Given the description of an element on the screen output the (x, y) to click on. 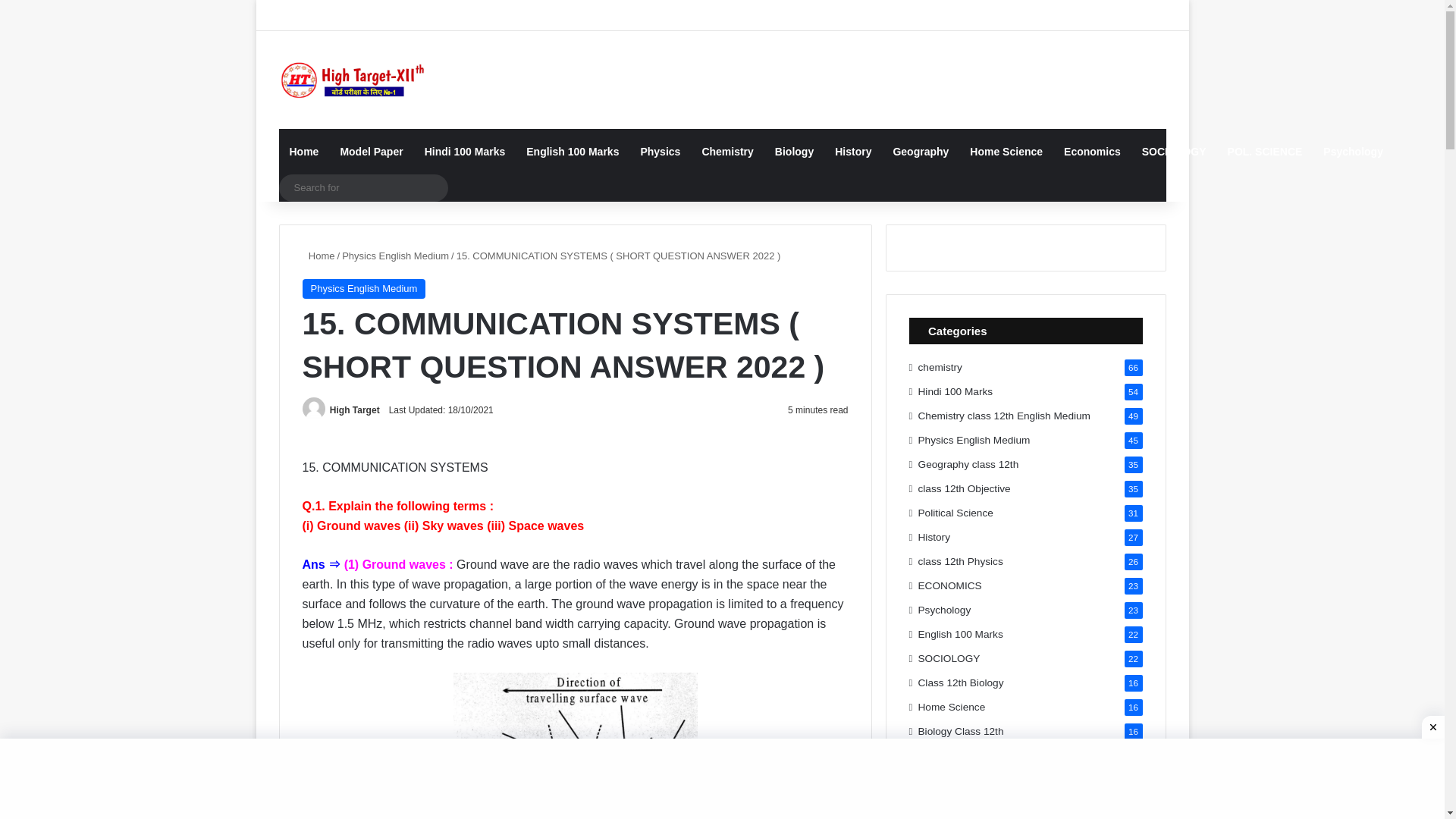
Home Science (1005, 151)
Home (317, 255)
Physics (659, 151)
High Target (365, 79)
English 100 Marks (571, 151)
Search for (363, 187)
Search for (431, 187)
Model Paper (371, 151)
Geography (920, 151)
Hindi 100 Marks (464, 151)
SOCIOLOGY (1174, 151)
Biology (794, 151)
Home (304, 151)
History (853, 151)
Physics English Medium (363, 288)
